Given the description of an element on the screen output the (x, y) to click on. 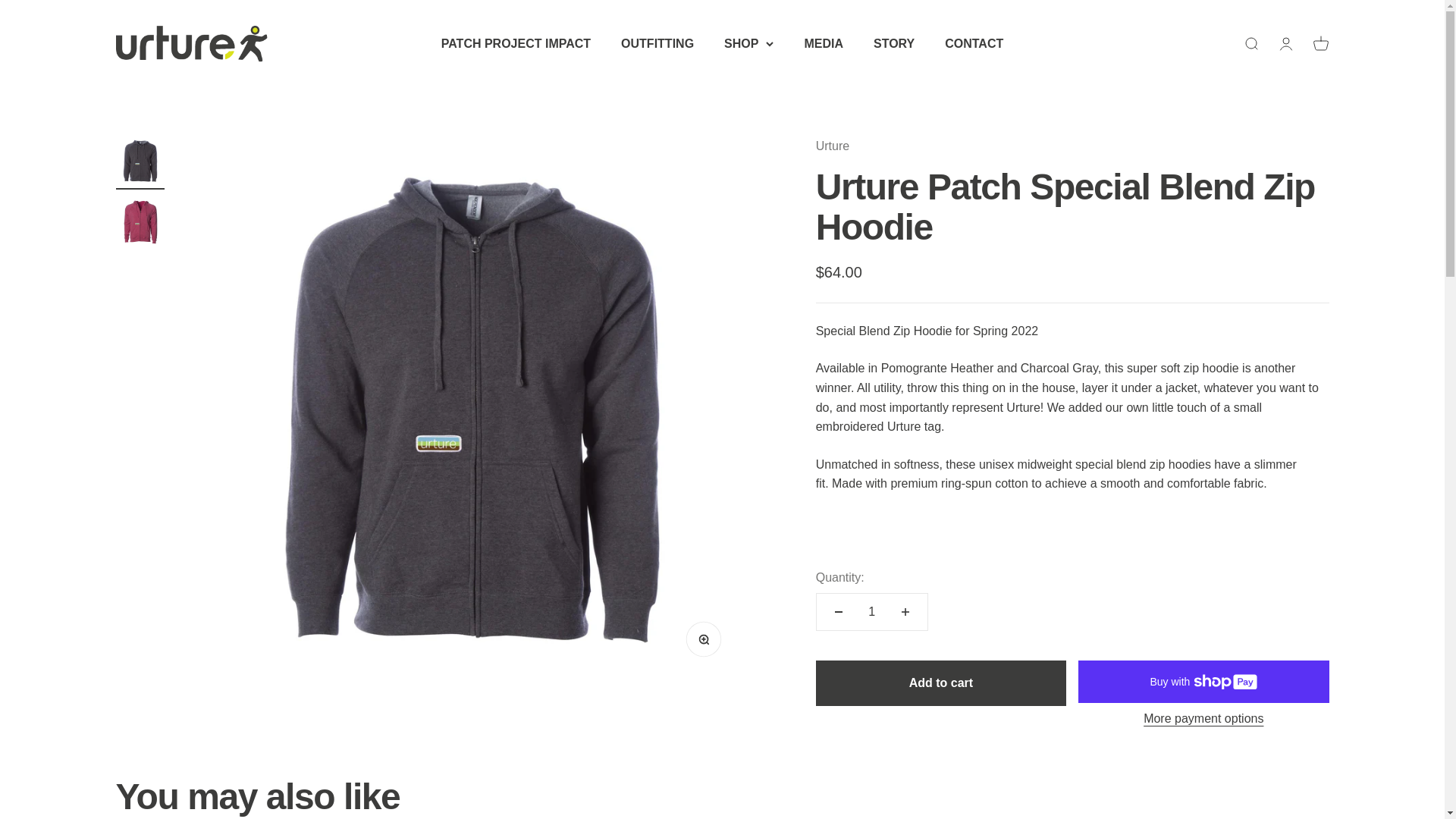
Open search (1250, 44)
Zoom (707, 642)
Urture (190, 43)
PATCH PROJECT IMPACT (516, 42)
STORY (893, 42)
More payment options (1319, 44)
CONTACT (1202, 718)
MEDIA (973, 42)
Open account page (823, 42)
OUTFITTING (1285, 44)
Add to cart (657, 42)
Urture (940, 682)
